Given the description of an element on the screen output the (x, y) to click on. 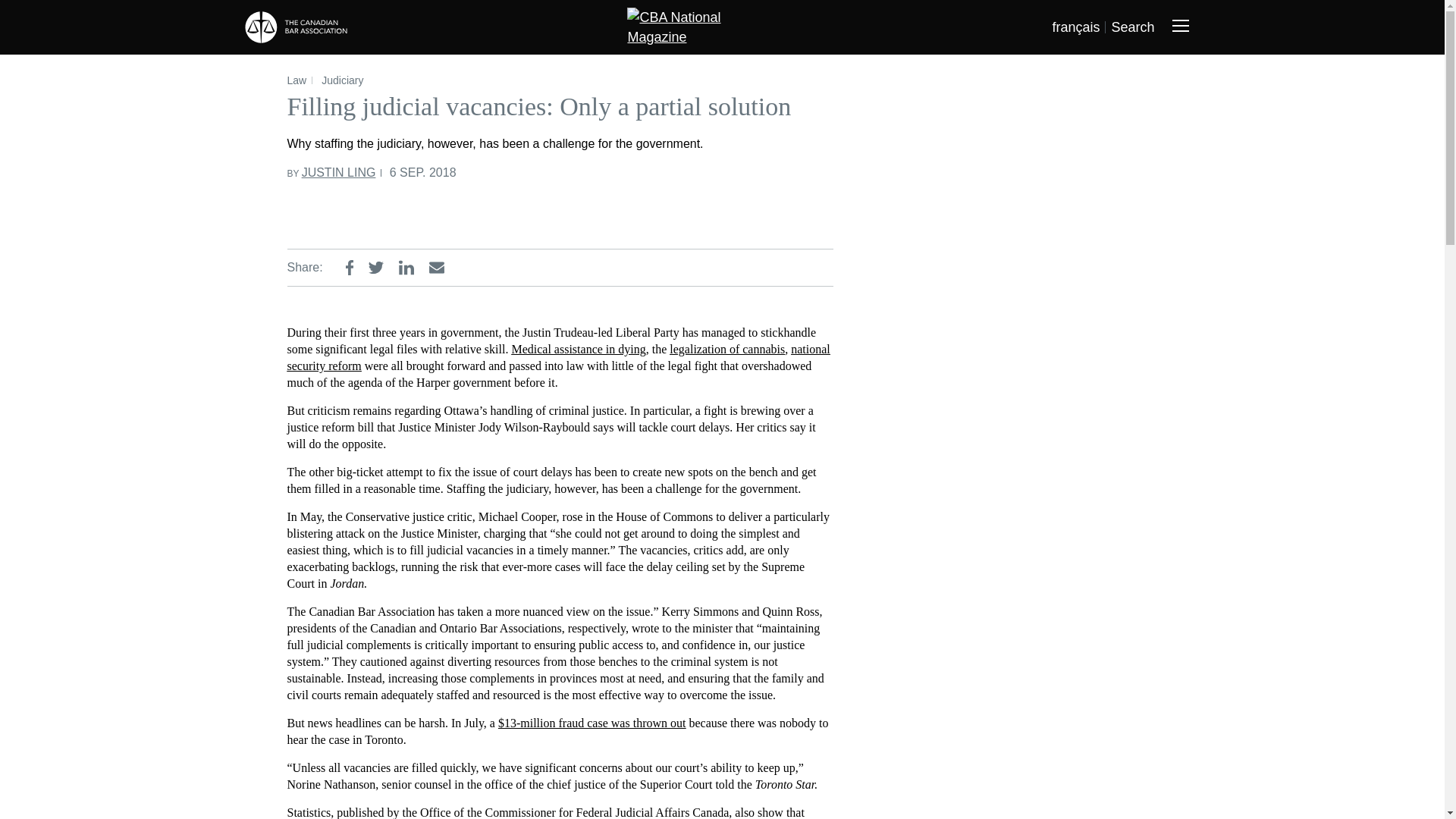
Skip to Content (48, 14)
Toggle Navigation (1180, 27)
Search (1132, 27)
